Given the description of an element on the screen output the (x, y) to click on. 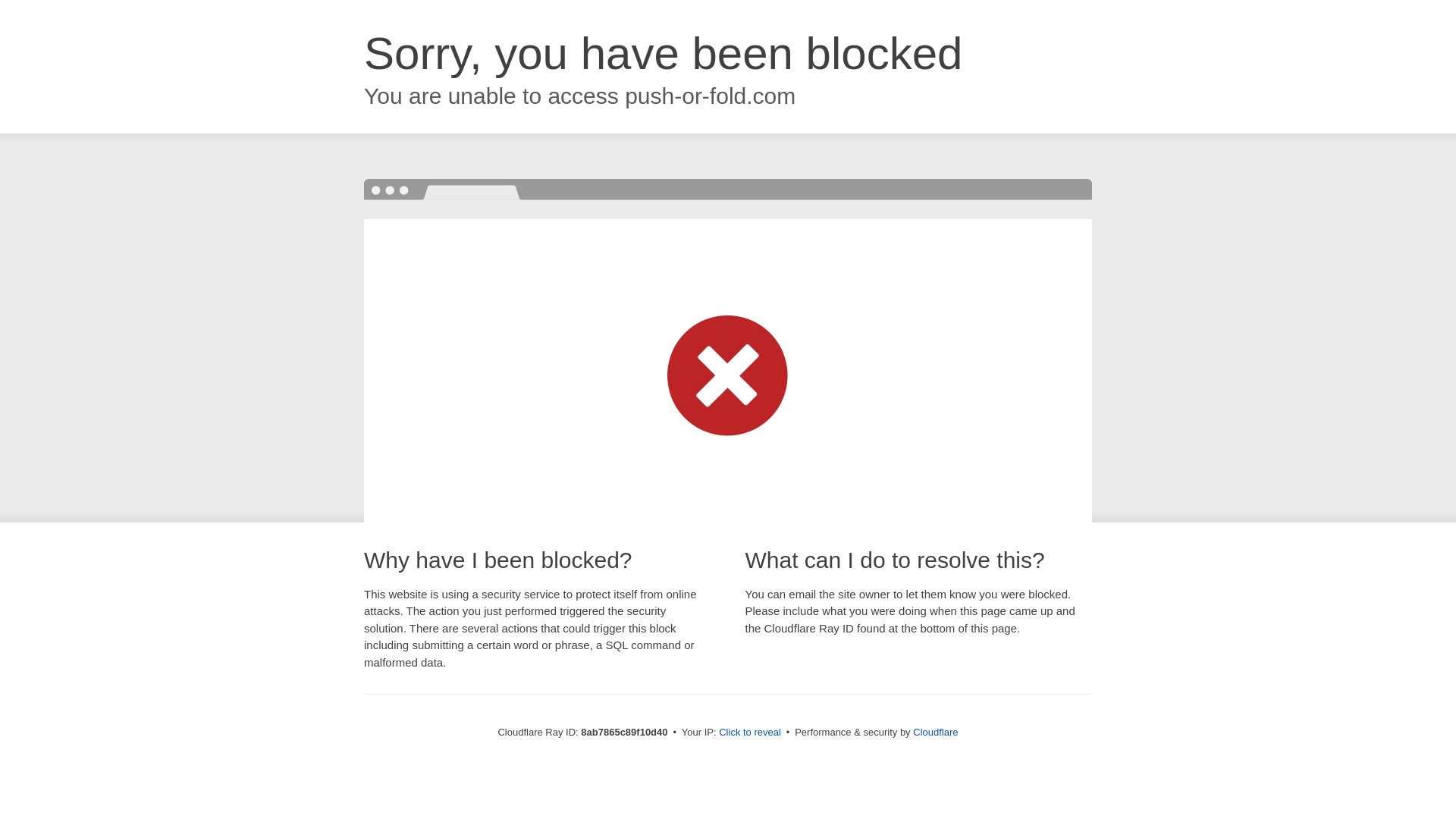
Cloudflare (935, 731)
Click to reveal (749, 732)
